Given the description of an element on the screen output the (x, y) to click on. 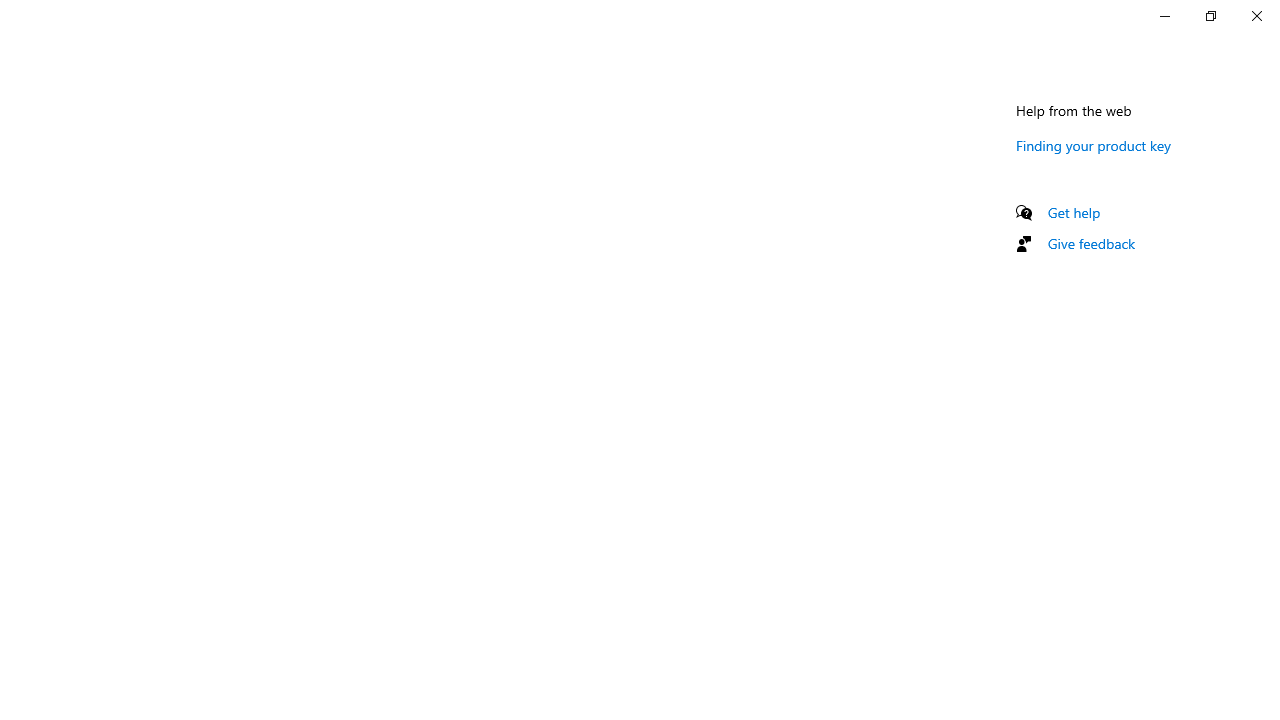
Minimize Settings (1164, 15)
Give feedback (1091, 243)
Close Settings (1256, 15)
Finding your product key (1093, 145)
Restore Settings (1210, 15)
Get help (1074, 212)
